Given the description of an element on the screen output the (x, y) to click on. 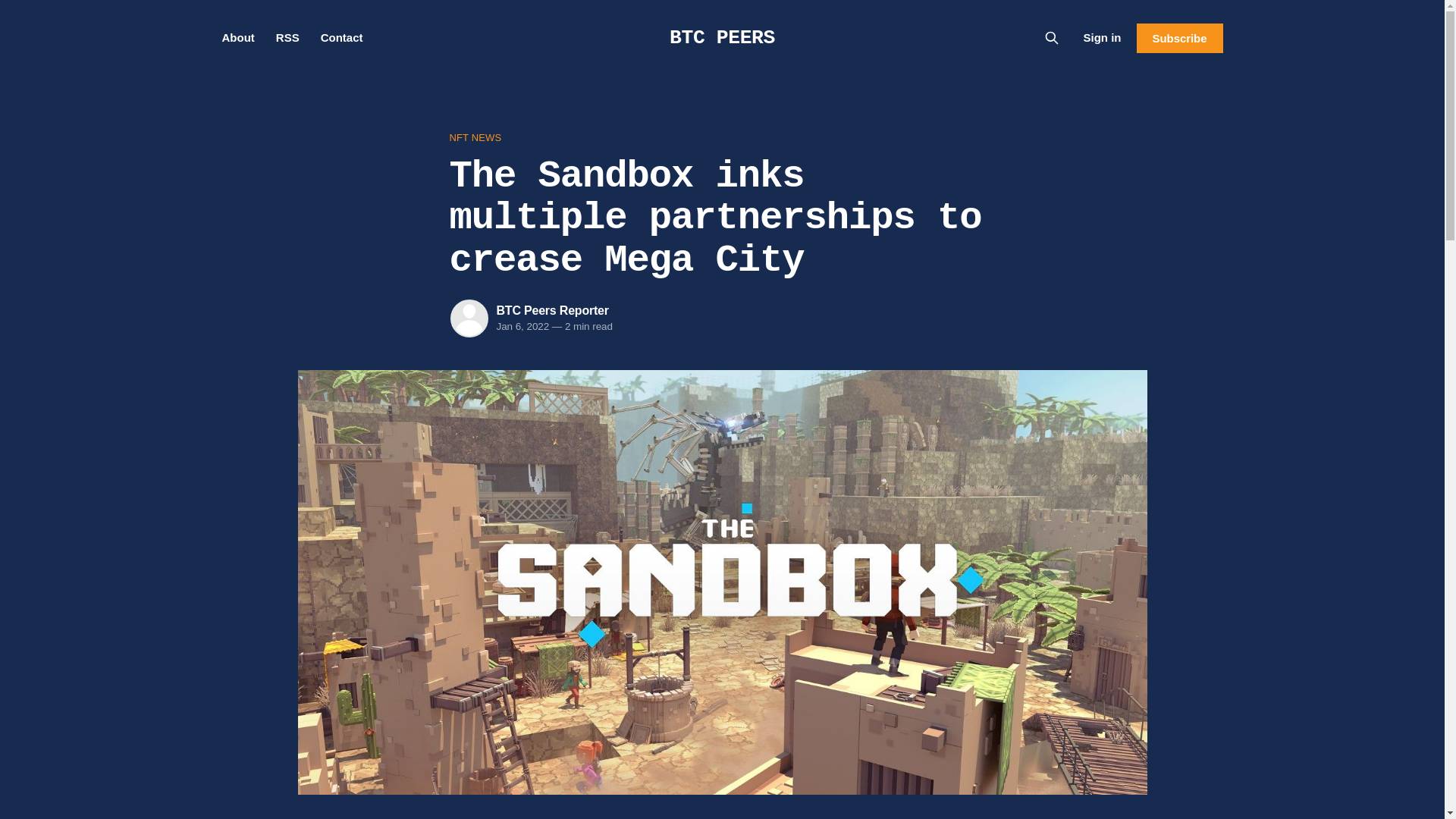
RSS (287, 37)
Subscribe (1179, 37)
Sign in (1102, 37)
NFT NEWS (721, 138)
BTC PEERS (721, 37)
BTC Peers Reporter (552, 309)
About (237, 37)
Contact (341, 37)
